Given the description of an element on the screen output the (x, y) to click on. 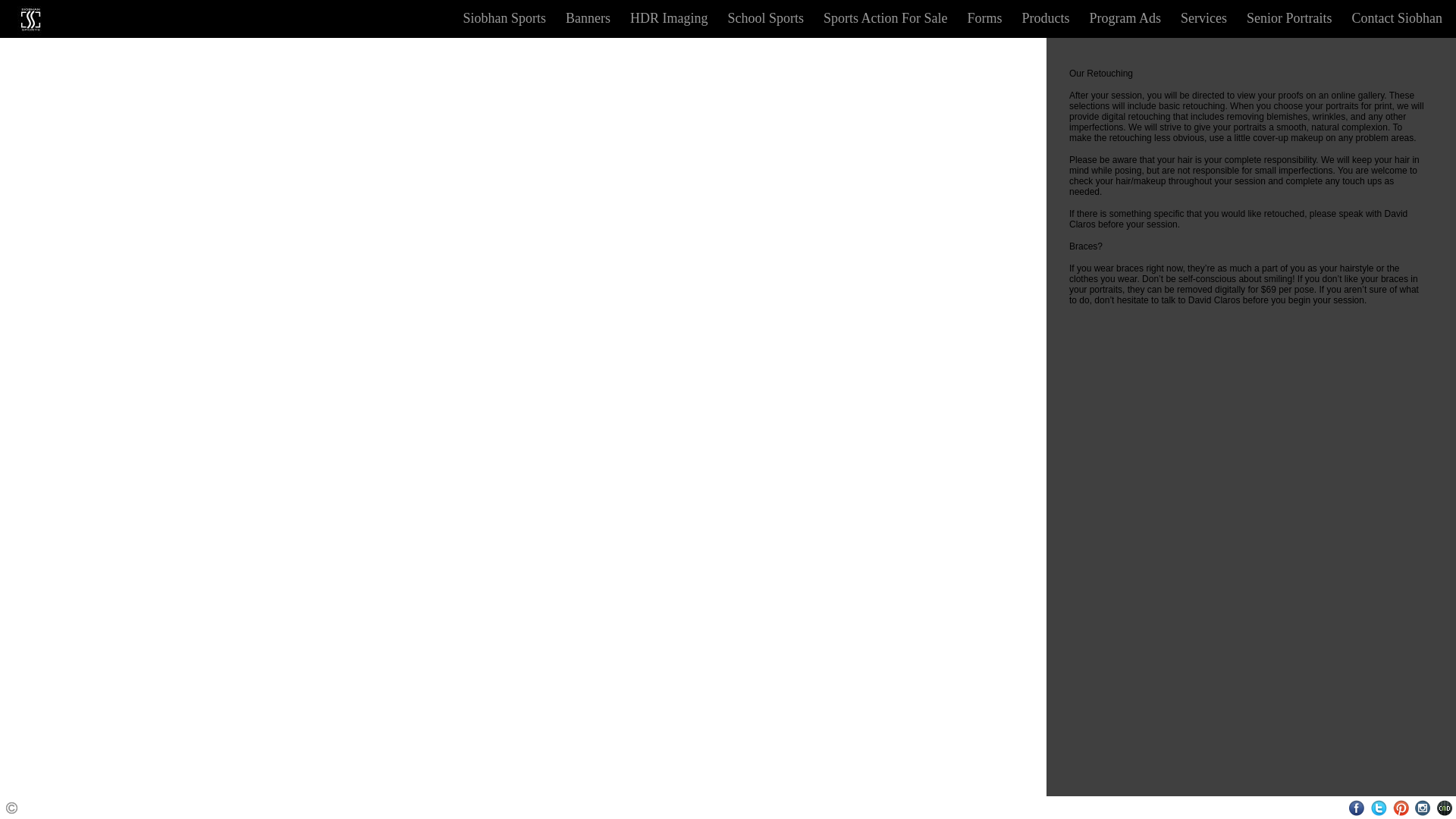
Banners (587, 18)
School Sports (764, 18)
Contact Siobhan (1396, 18)
Sports Action For Sale (884, 18)
Facebook (1357, 807)
Products (1045, 18)
HDR Imaging (669, 18)
Instagram (1423, 807)
Siobhan Sports (504, 18)
Program Ads (1125, 18)
Services (1203, 18)
Twitter (1379, 807)
Websites for Photographers (1445, 807)
Forms (984, 18)
Senior Portraits (1289, 18)
